Given the description of an element on the screen output the (x, y) to click on. 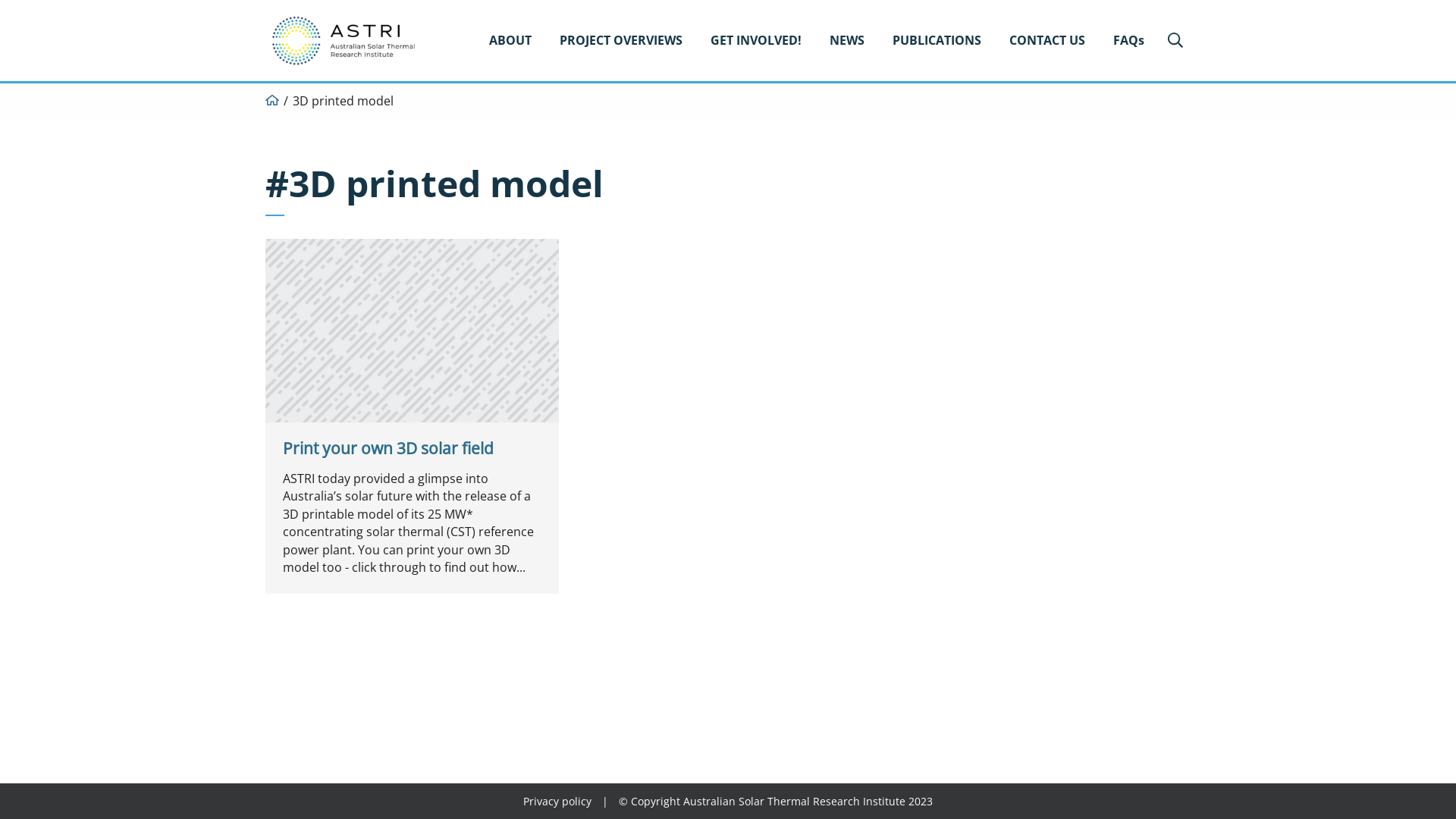
FAQs Element type: text (1128, 40)
ABOUT Element type: text (509, 40)
CONTACT US Element type: text (1047, 40)
NEWS Element type: text (846, 40)
Privacy policy Element type: text (557, 800)
PUBLICATIONS Element type: text (936, 40)
GET INVOLVED! Element type: text (755, 40)
PROJECT OVERVIEWS Element type: text (620, 40)
